Given the description of an element on the screen output the (x, y) to click on. 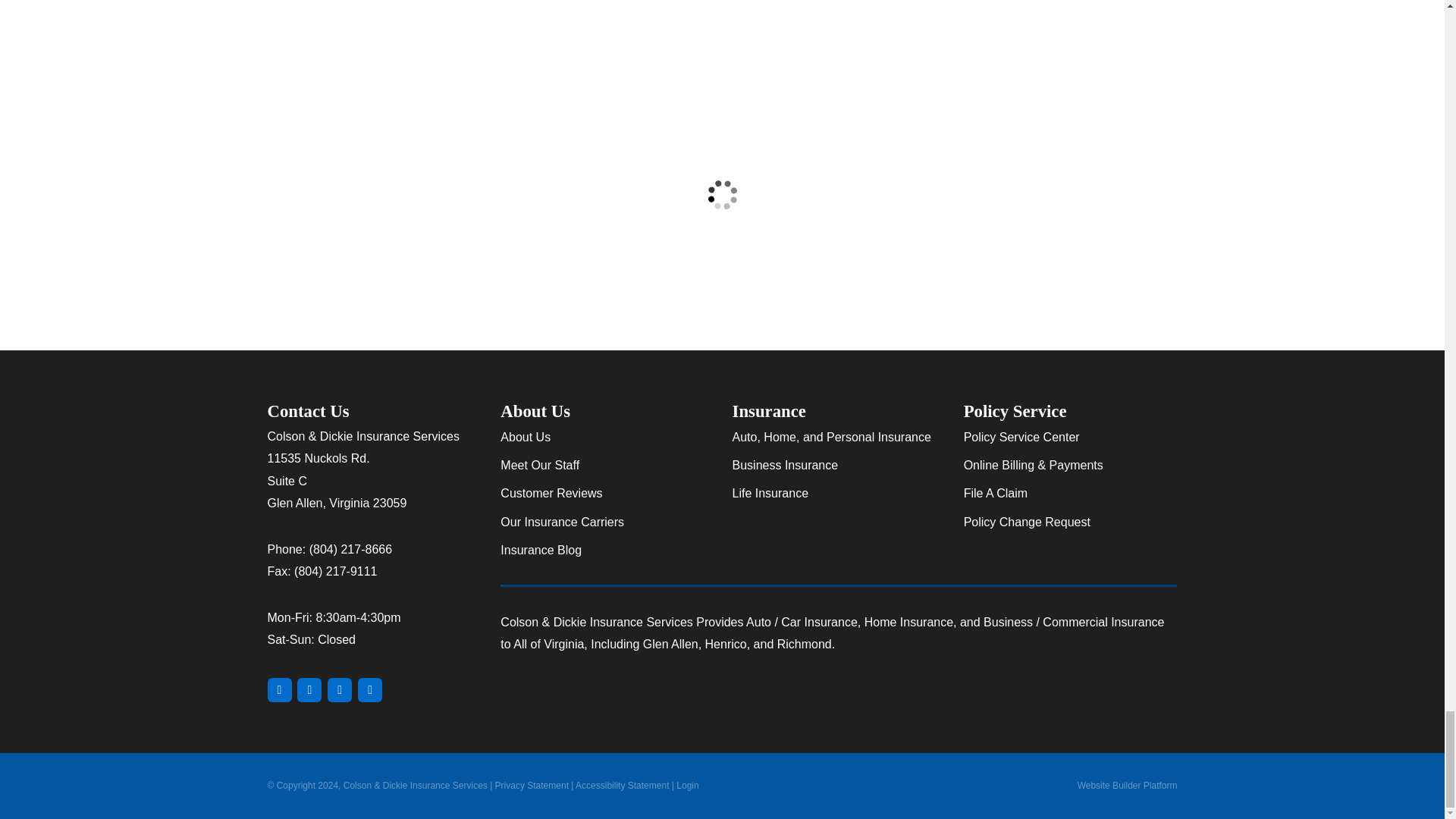
Facebook (339, 689)
Google Maps (278, 689)
YouTube (369, 689)
Yelp (309, 689)
